Given the description of an element on the screen output the (x, y) to click on. 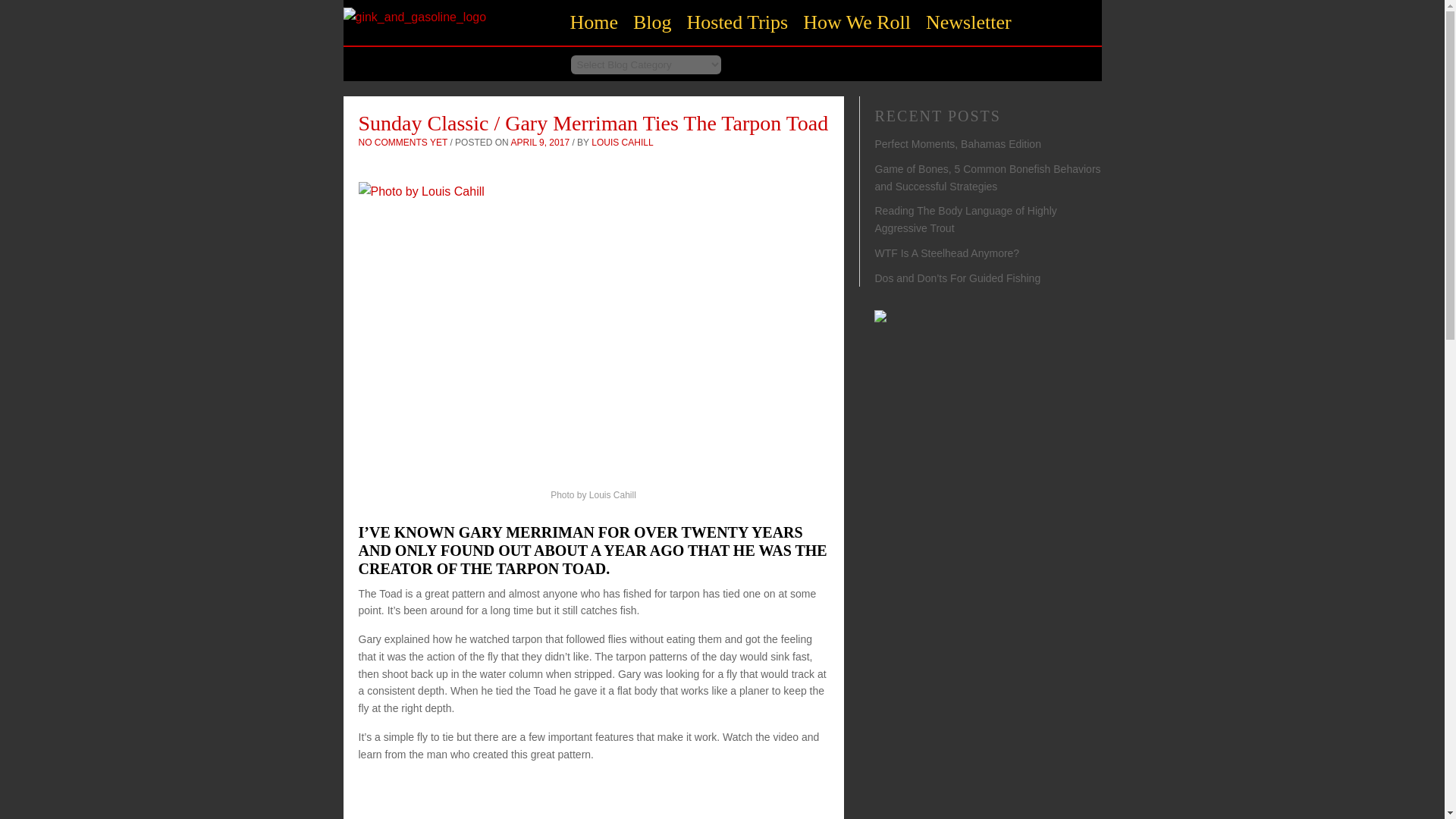
LOUIS CAHILL (621, 142)
Skip to secondary content (648, 13)
Newsletter (968, 22)
Home (414, 16)
Skip to primary content (642, 13)
Skip to primary content (642, 13)
View all posts by Louis Cahill (621, 142)
Blog (652, 22)
Hosted Trips (737, 22)
5:00 am (540, 142)
